Given the description of an element on the screen output the (x, y) to click on. 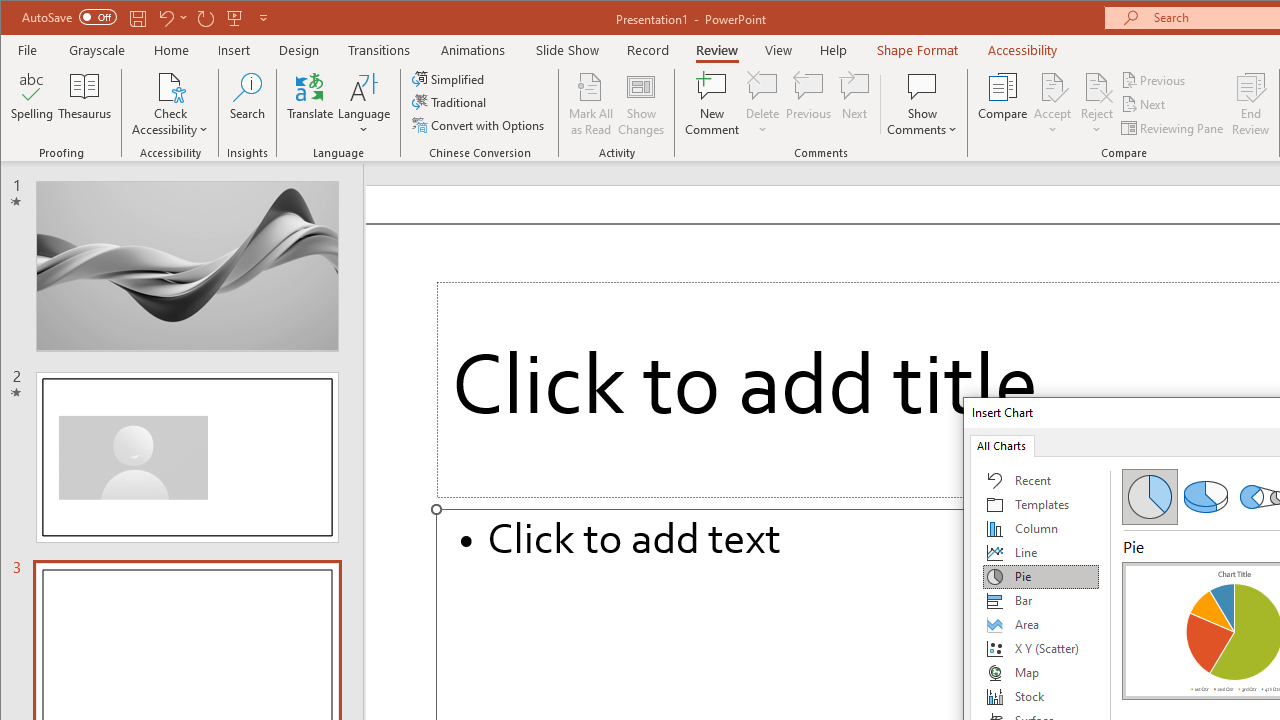
Accept Change (1052, 86)
Spelling... (32, 104)
